Given the description of an element on the screen output the (x, y) to click on. 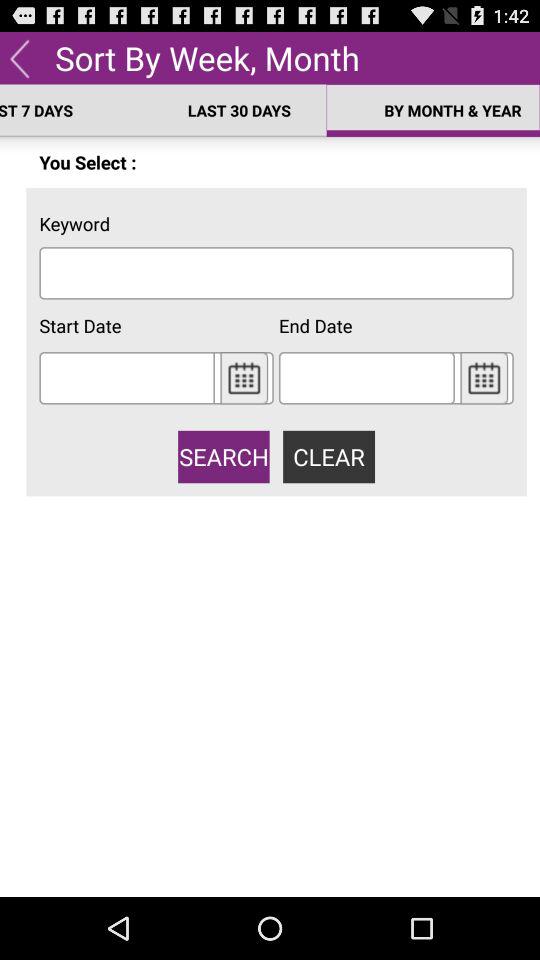
place cursor (276, 272)
